Given the description of an element on the screen output the (x, y) to click on. 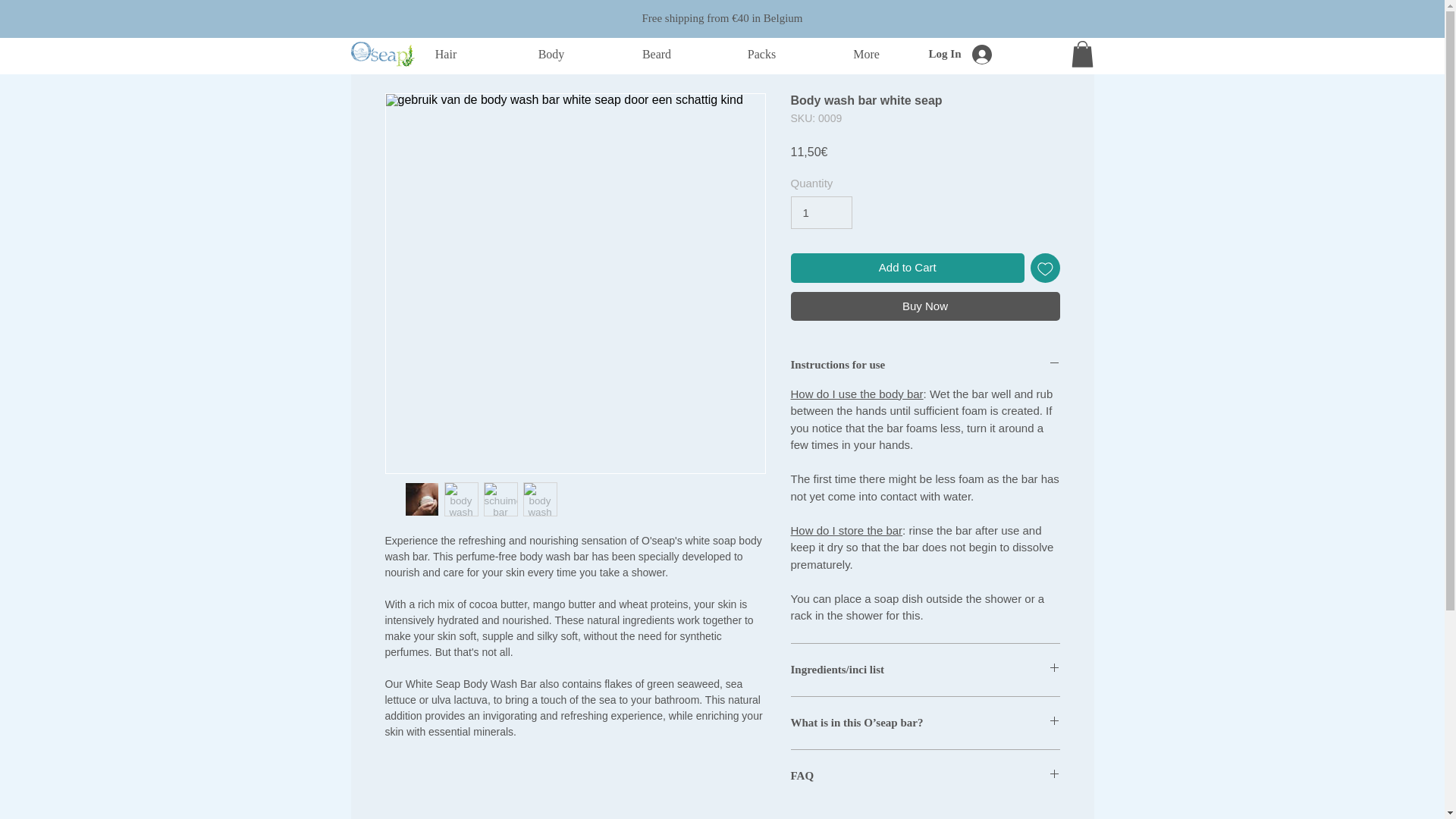
Add to Cart (907, 267)
1 (820, 213)
Buy Now (924, 306)
FAQ (924, 775)
Instructions for use (924, 365)
Log In (980, 53)
